Given the description of an element on the screen output the (x, y) to click on. 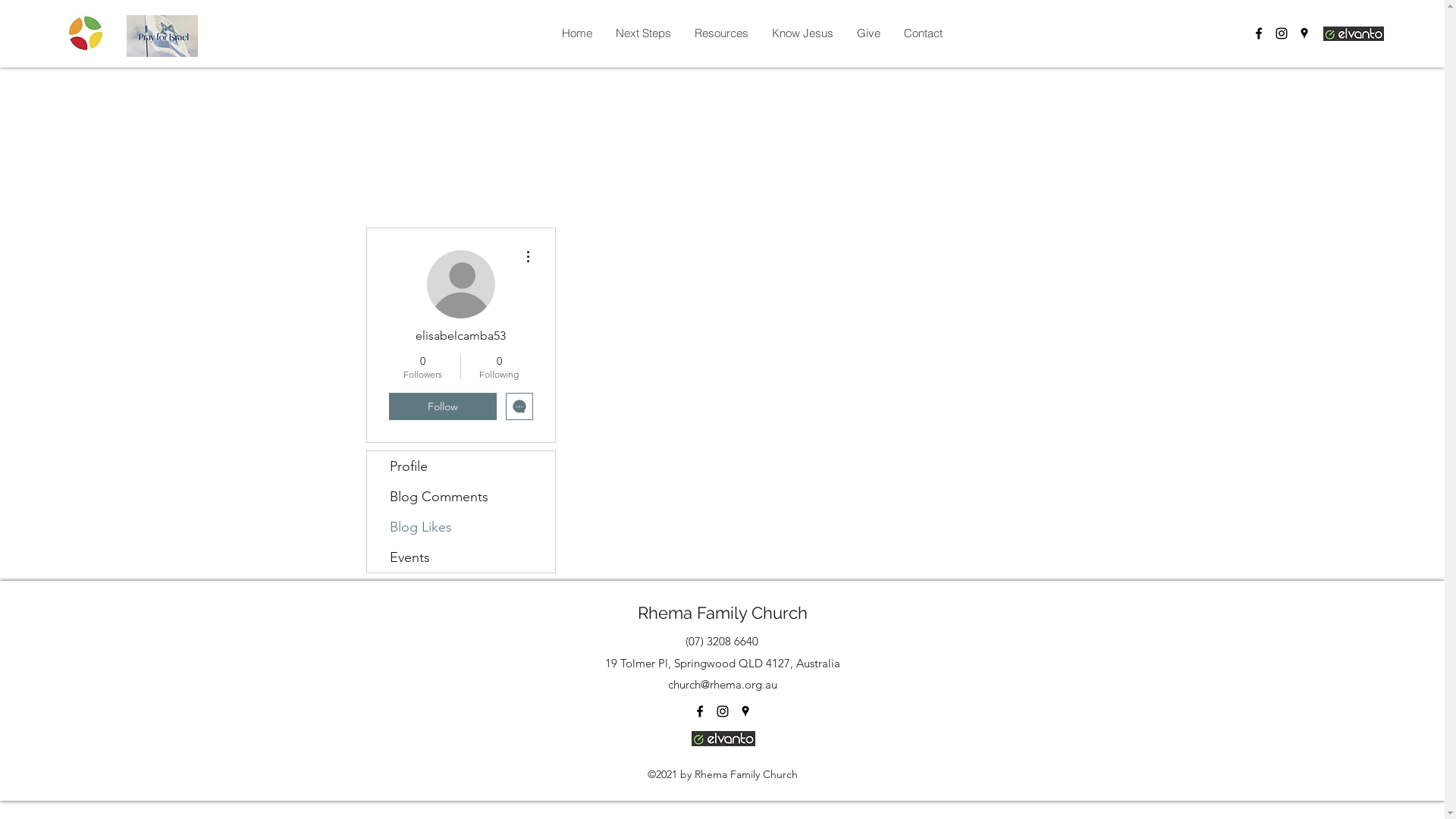
Rhema Family Church Element type: text (721, 612)
Resources Element type: text (720, 33)
Profile Element type: text (461, 466)
Login Elvanto Element type: hover (1353, 32)
Know Jesus Element type: text (801, 33)
0
Followers Element type: text (421, 366)
Follow Element type: text (441, 406)
Events Element type: text (461, 557)
Blog Comments Element type: text (461, 496)
Give Element type: text (867, 33)
Home Element type: text (575, 33)
Contact Element type: text (922, 33)
Blog Likes Element type: text (461, 526)
0
Following Element type: text (499, 366)
church@rhema.org.au Element type: text (722, 684)
Next Steps Element type: text (642, 33)
